Given the description of an element on the screen output the (x, y) to click on. 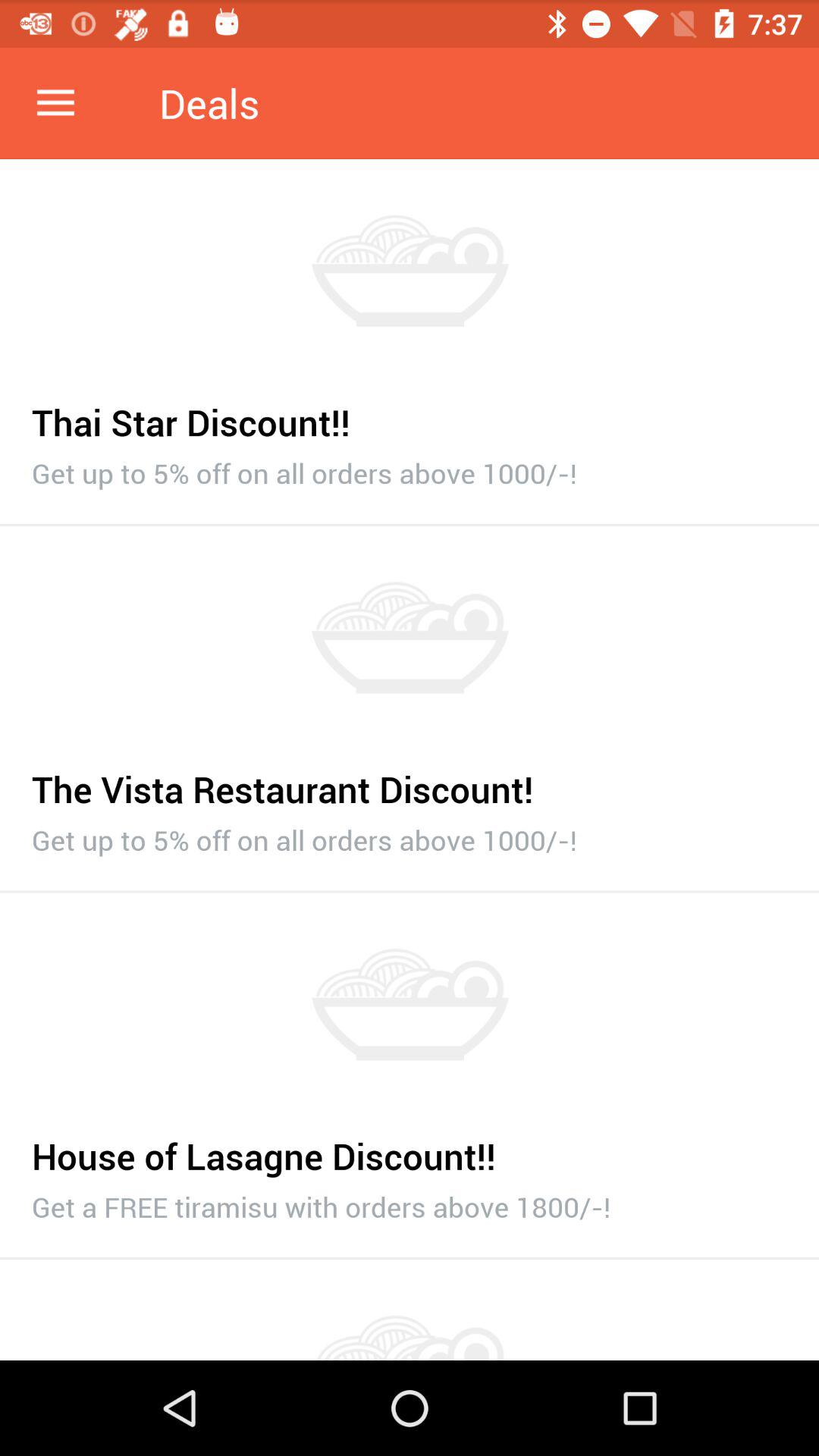
launch the icon below house of lasagne (409, 1202)
